Given the description of an element on the screen output the (x, y) to click on. 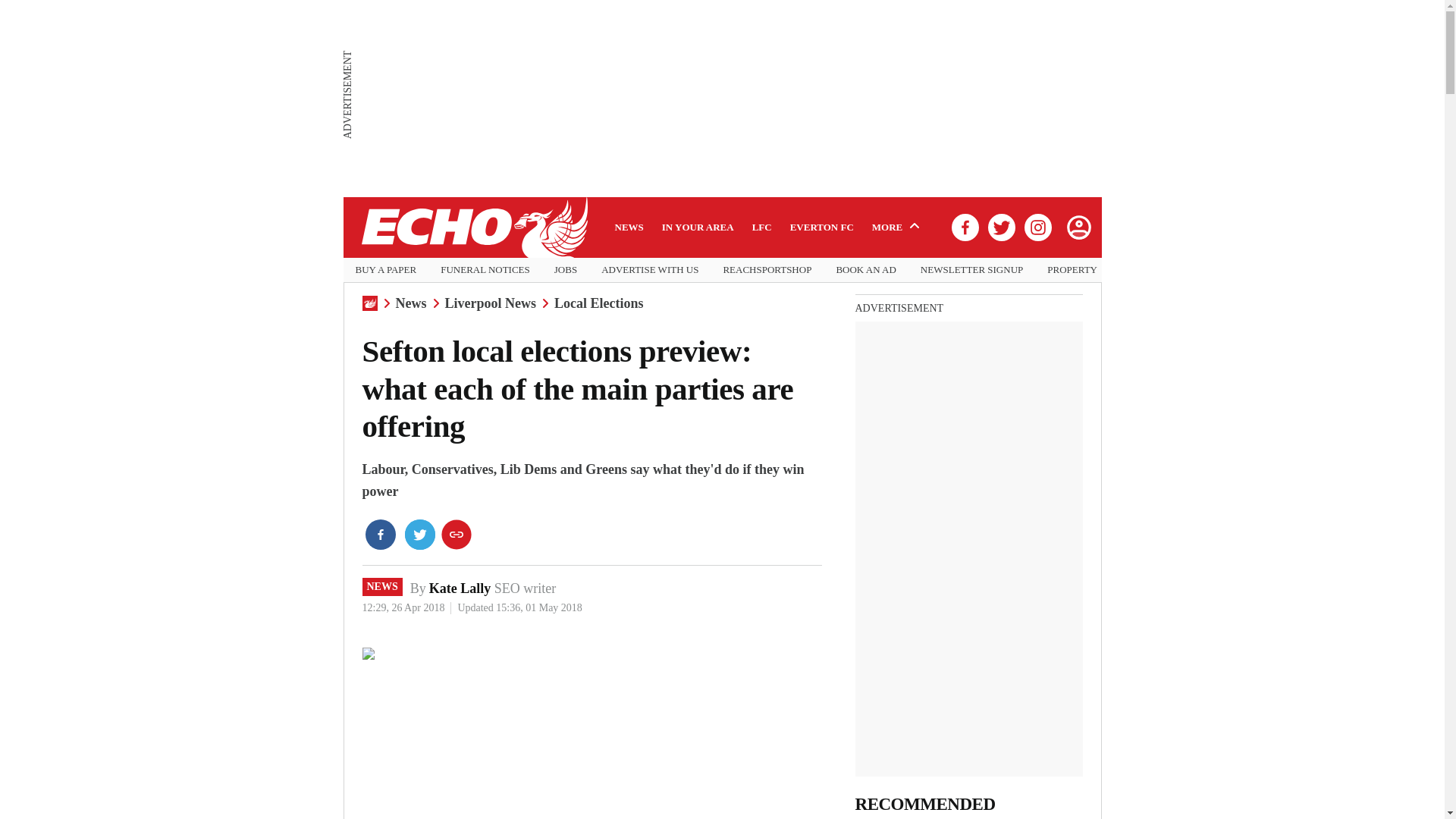
Liverpool News (489, 303)
NEWSLETTER SIGNUP (971, 270)
Go to the Liverpool Echo homepage (473, 227)
Local Elections (598, 303)
FUNERAL NOTICES (485, 270)
avatar (1077, 227)
NEWS (382, 587)
JOBS (565, 270)
EVERTON FC (821, 227)
copy link (456, 534)
